Given the description of an element on the screen output the (x, y) to click on. 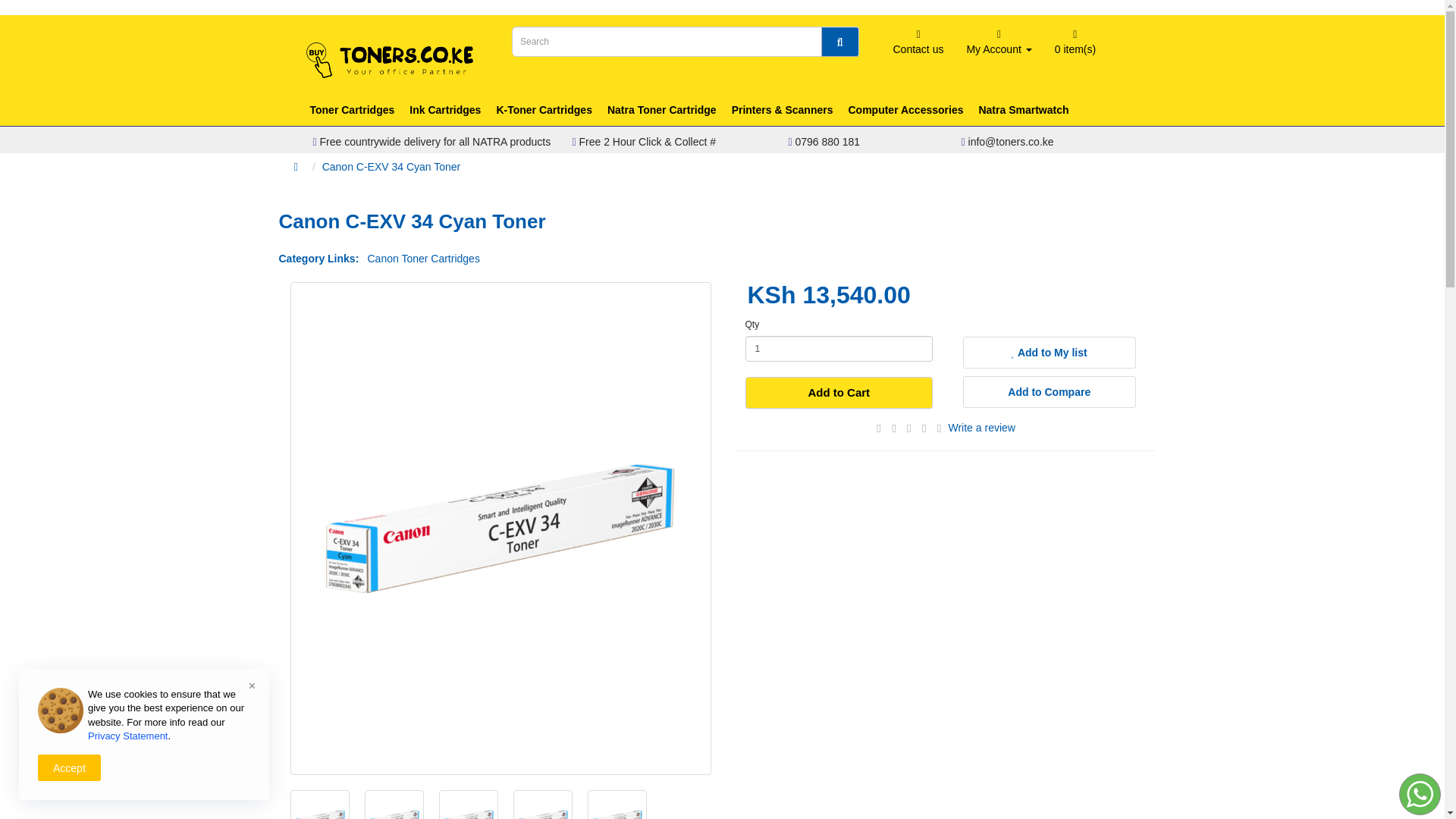
Contact us (917, 45)
K-Toner Cartridges (543, 110)
Natra Toner Cartridge (661, 110)
Toners.Co.Ke (389, 60)
1 (838, 348)
Computer Accessories (905, 110)
Ink Cartridges (444, 110)
My Account (998, 45)
Toner Cartridges (351, 110)
